Given the description of an element on the screen output the (x, y) to click on. 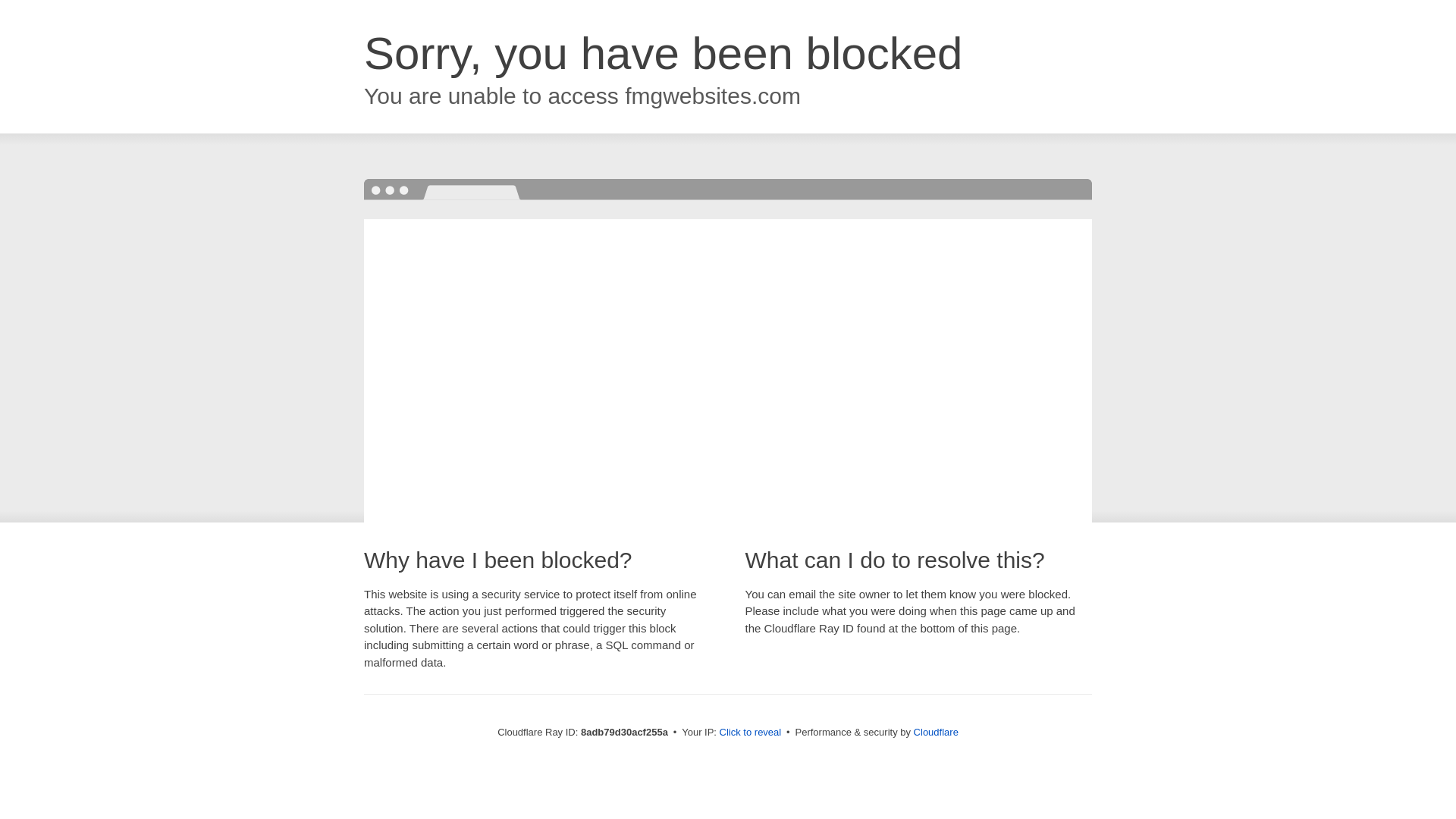
Click to reveal (750, 732)
Cloudflare (936, 731)
